Given the description of an element on the screen output the (x, y) to click on. 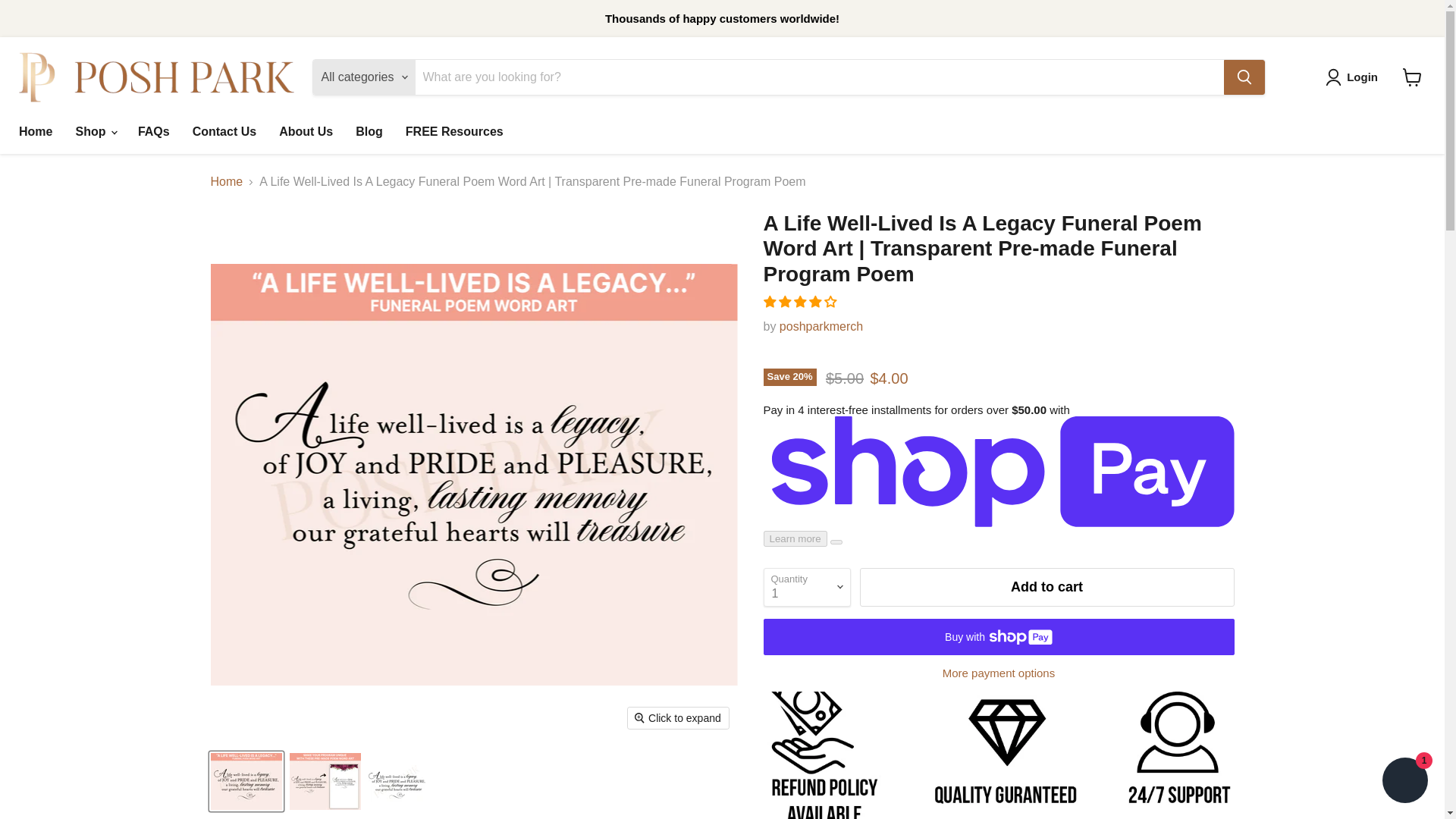
About Us (305, 132)
Blog (368, 132)
Shopify online store chat (1404, 781)
FAQs (153, 132)
poshparkmerch (820, 326)
Home (35, 132)
View cart (1411, 77)
Login (1362, 76)
FREE Resources (454, 132)
Contact Us (223, 132)
